Given the description of an element on the screen output the (x, y) to click on. 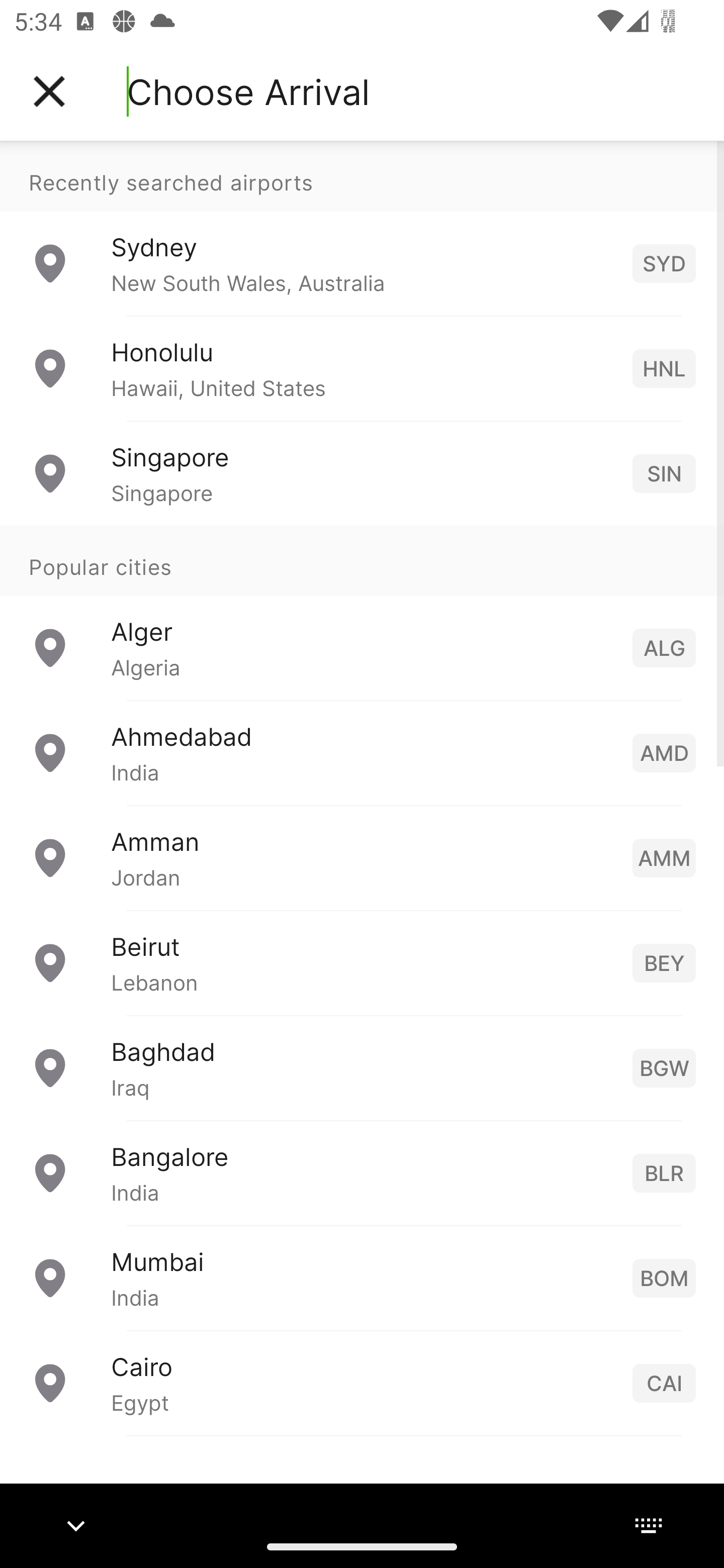
Choose Arrival (247, 91)
Recently searched airports (362, 176)
Honolulu Hawaii, United States HNL (362, 367)
Singapore Singapore SIN (362, 472)
Popular cities Alger Algeria ALG (362, 612)
Popular cities (362, 560)
Ahmedabad India AMD (362, 751)
Amman Jordan AMM (362, 856)
Beirut Lebanon BEY (362, 961)
Baghdad Iraq BGW (362, 1066)
Bangalore India BLR (362, 1171)
Mumbai India BOM (362, 1276)
Cairo Egypt CAI (362, 1381)
